Given the description of an element on the screen output the (x, y) to click on. 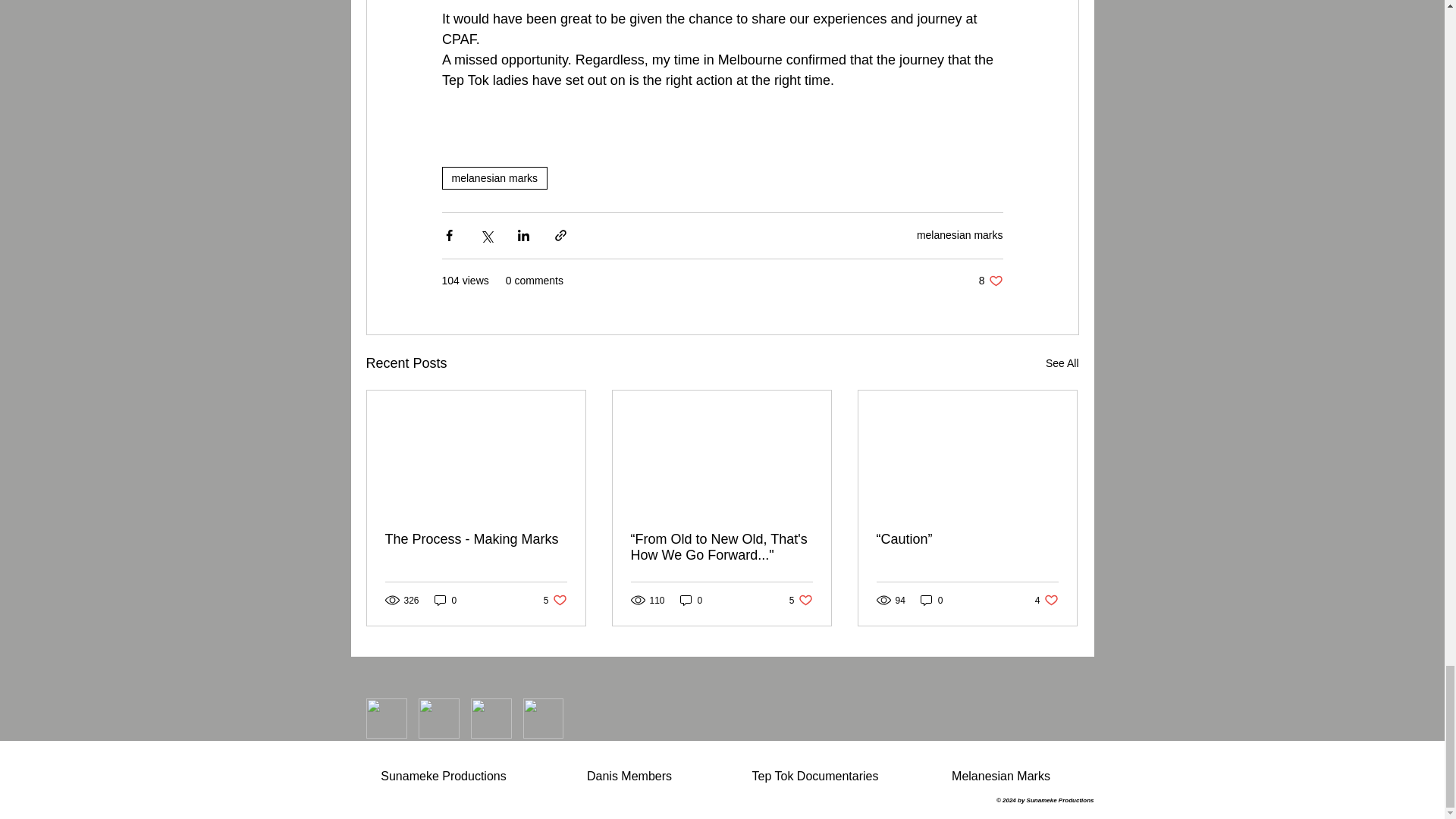
melanesian marks (960, 234)
0 (990, 280)
melanesian marks (691, 599)
0 (800, 599)
0 (555, 599)
The Process - Making Marks (494, 178)
